Given the description of an element on the screen output the (x, y) to click on. 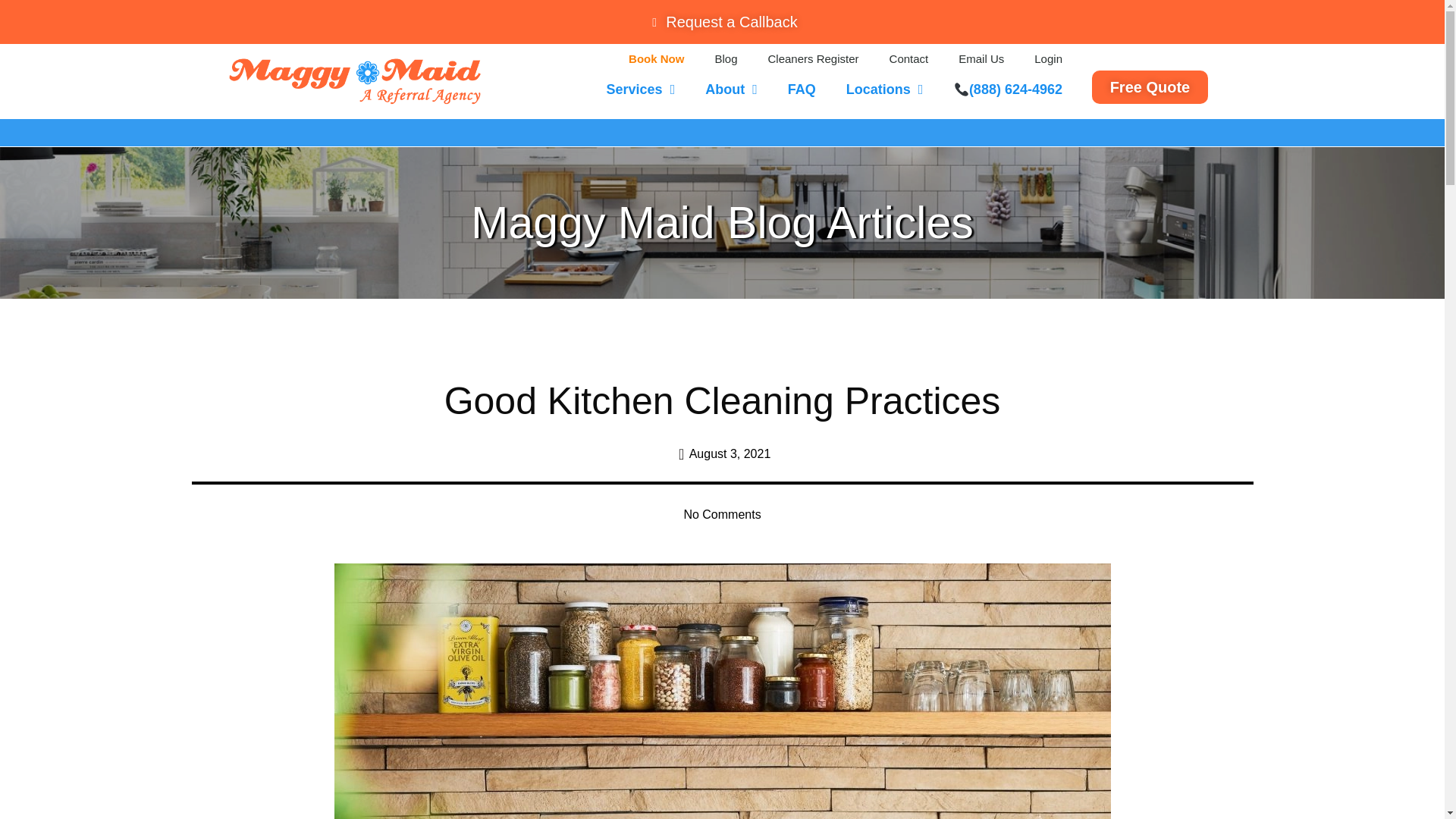
Request a Callback (722, 22)
